Given the description of an element on the screen output the (x, y) to click on. 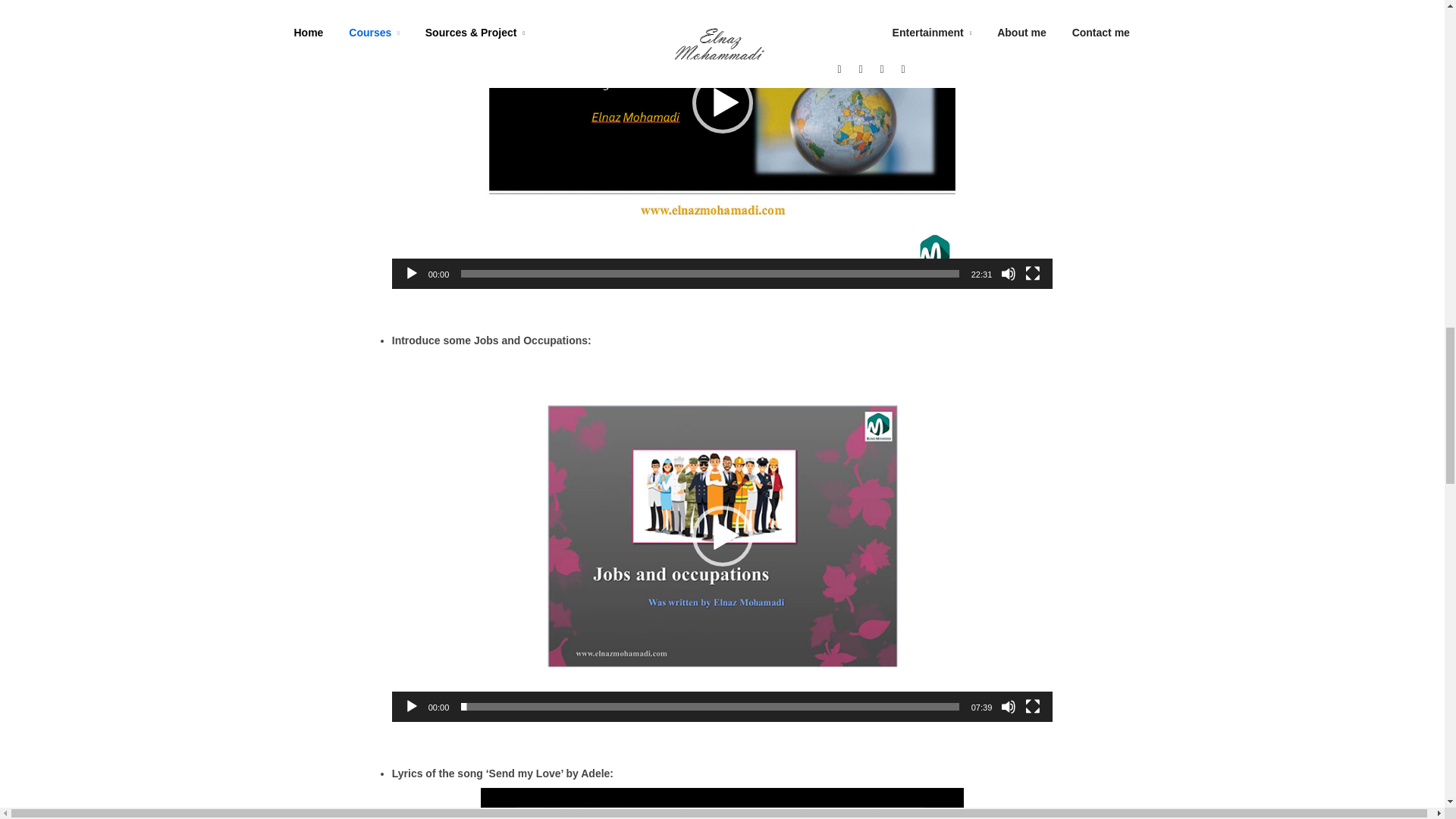
Mute (1008, 273)
Fullscreen (1033, 273)
Fullscreen (1033, 706)
Mute (1008, 706)
Play (411, 706)
Play (411, 273)
